Given the description of an element on the screen output the (x, y) to click on. 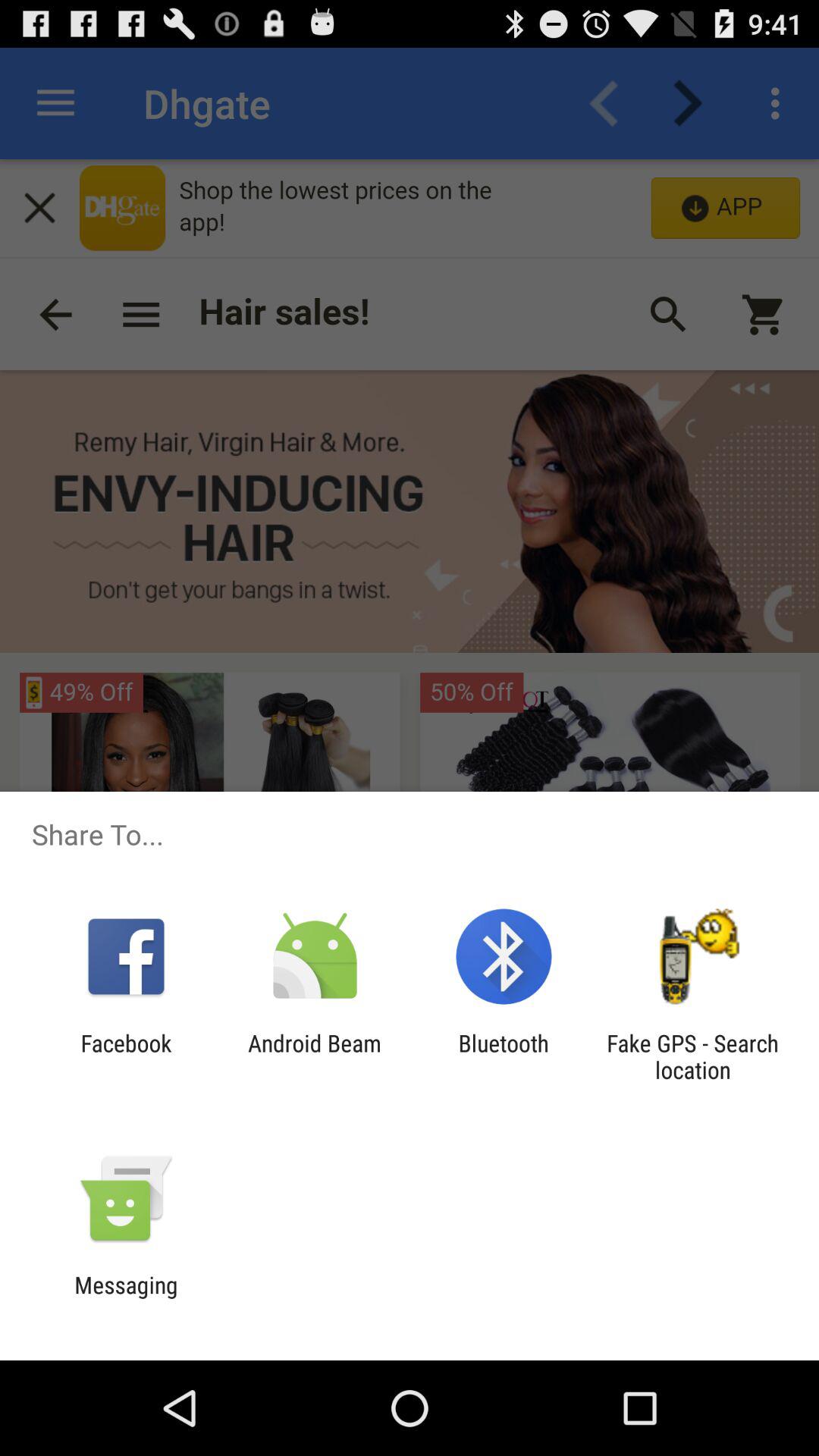
select the facebook icon (125, 1056)
